Given the description of an element on the screen output the (x, y) to click on. 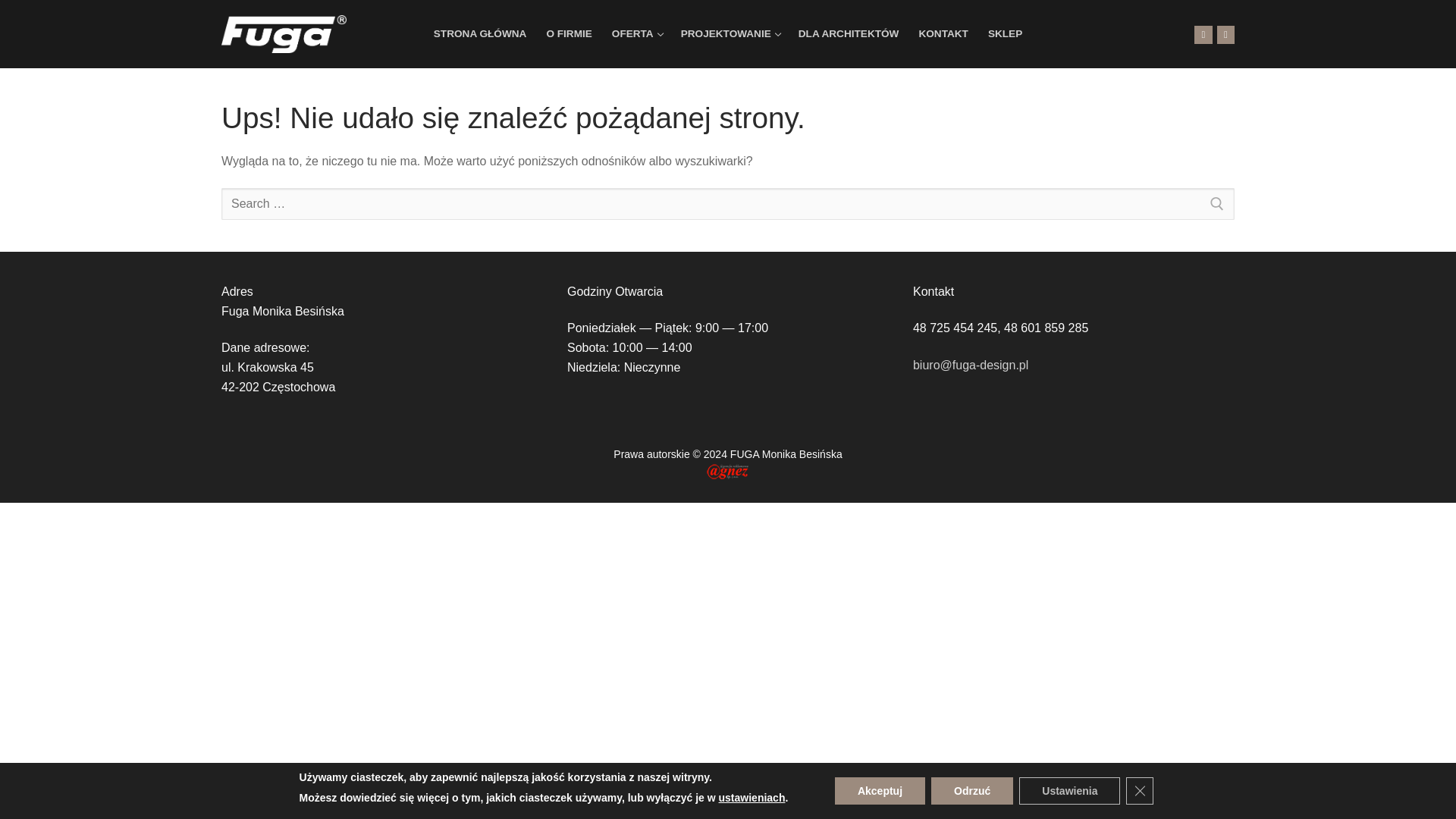
SKLEP (1005, 33)
O FIRMIE (568, 33)
Facebook (1203, 34)
Instagram (1225, 34)
KONTAKT (730, 33)
Szukaj: (942, 33)
